Given the description of an element on the screen output the (x, y) to click on. 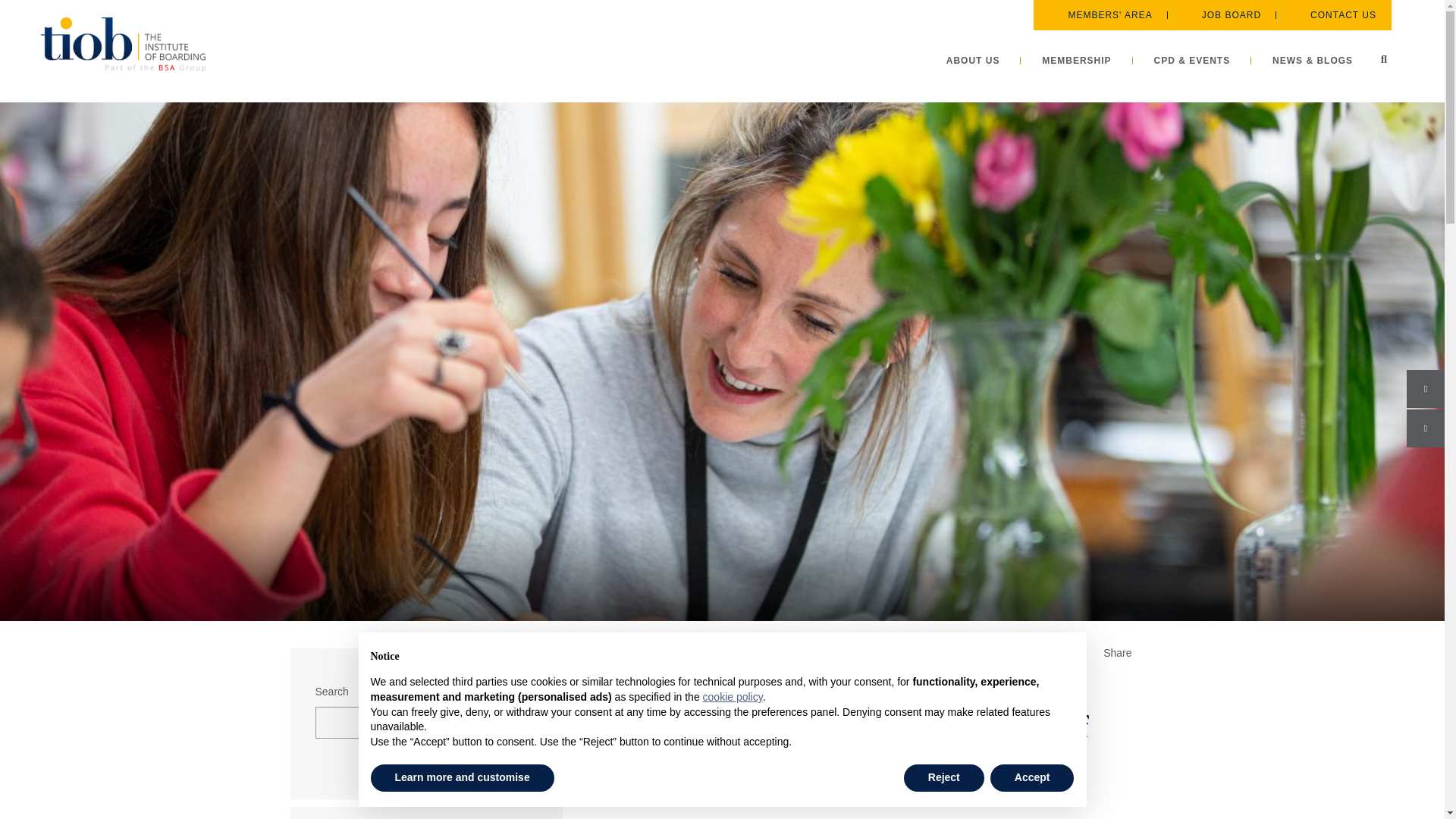
MEMBERS' AREA (1099, 15)
Go to the News Category archives. (780, 653)
Search (1383, 58)
Go to The Institute of Boarding. (643, 653)
MEMBERSHIP (1076, 60)
JOB BOARD (1221, 15)
CONTACT US (1333, 15)
ABOUT US (973, 60)
Search (1383, 58)
Go to News. (734, 653)
